Given the description of an element on the screen output the (x, y) to click on. 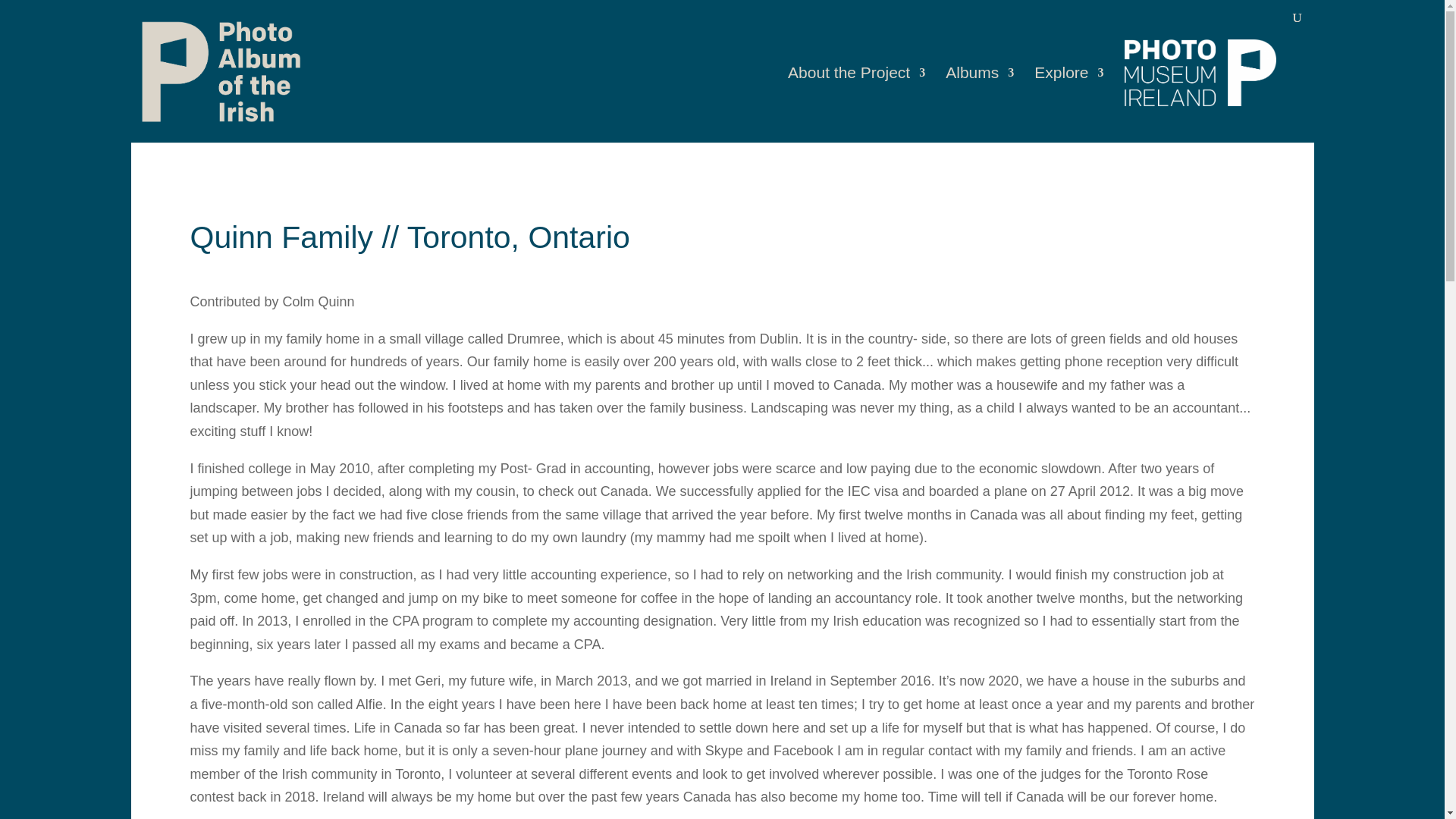
About the Project (855, 104)
Explore (1068, 104)
Albums (978, 104)
